Given the description of an element on the screen output the (x, y) to click on. 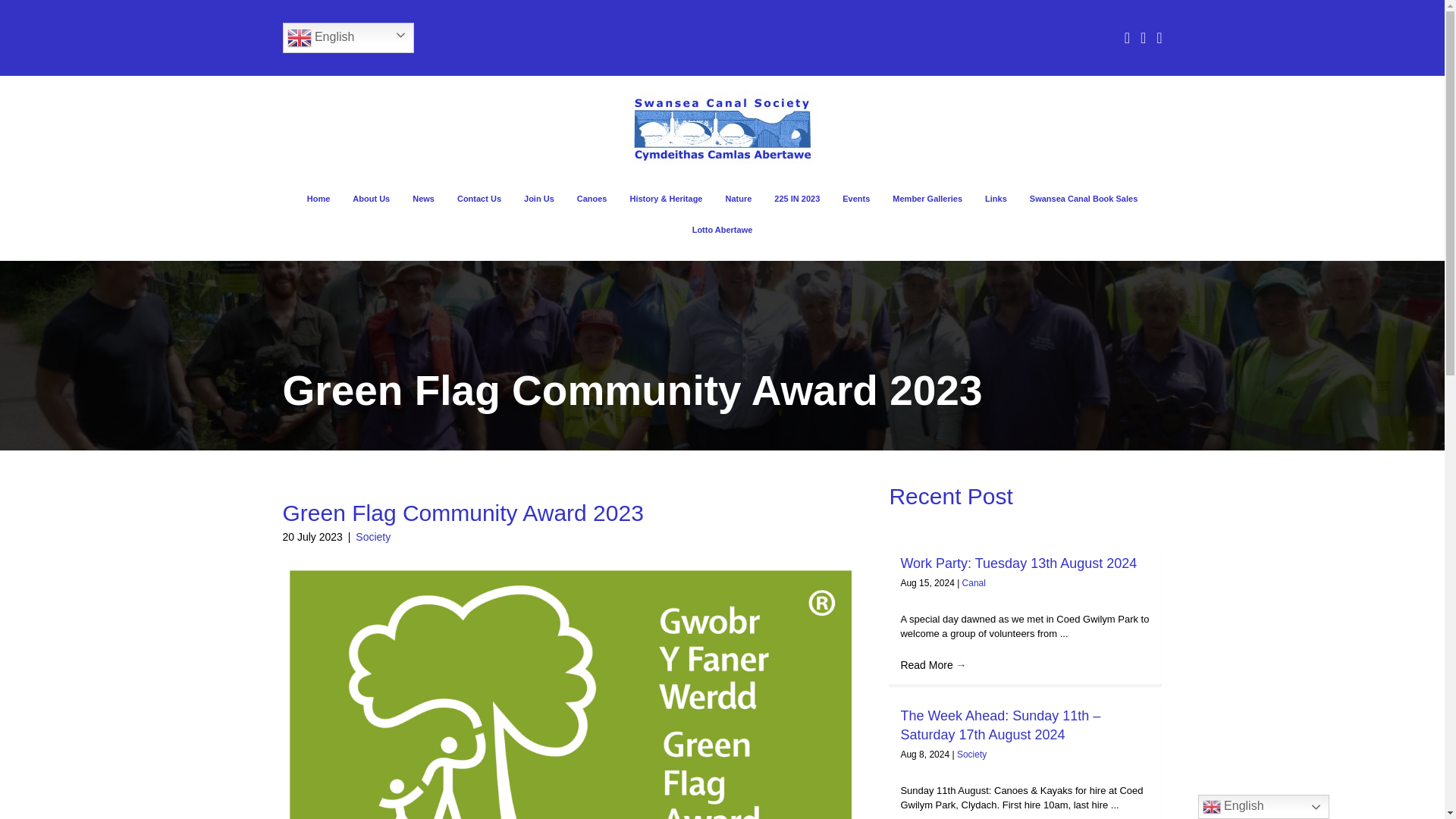
preview (722, 129)
Work Party: Tuesday 13th August 2024 (1018, 563)
Home (318, 198)
Society (372, 536)
News (423, 198)
Lotto Abertawe (722, 229)
English (347, 37)
Read More (932, 664)
Events (855, 198)
Nature (737, 198)
